Given the description of an element on the screen output the (x, y) to click on. 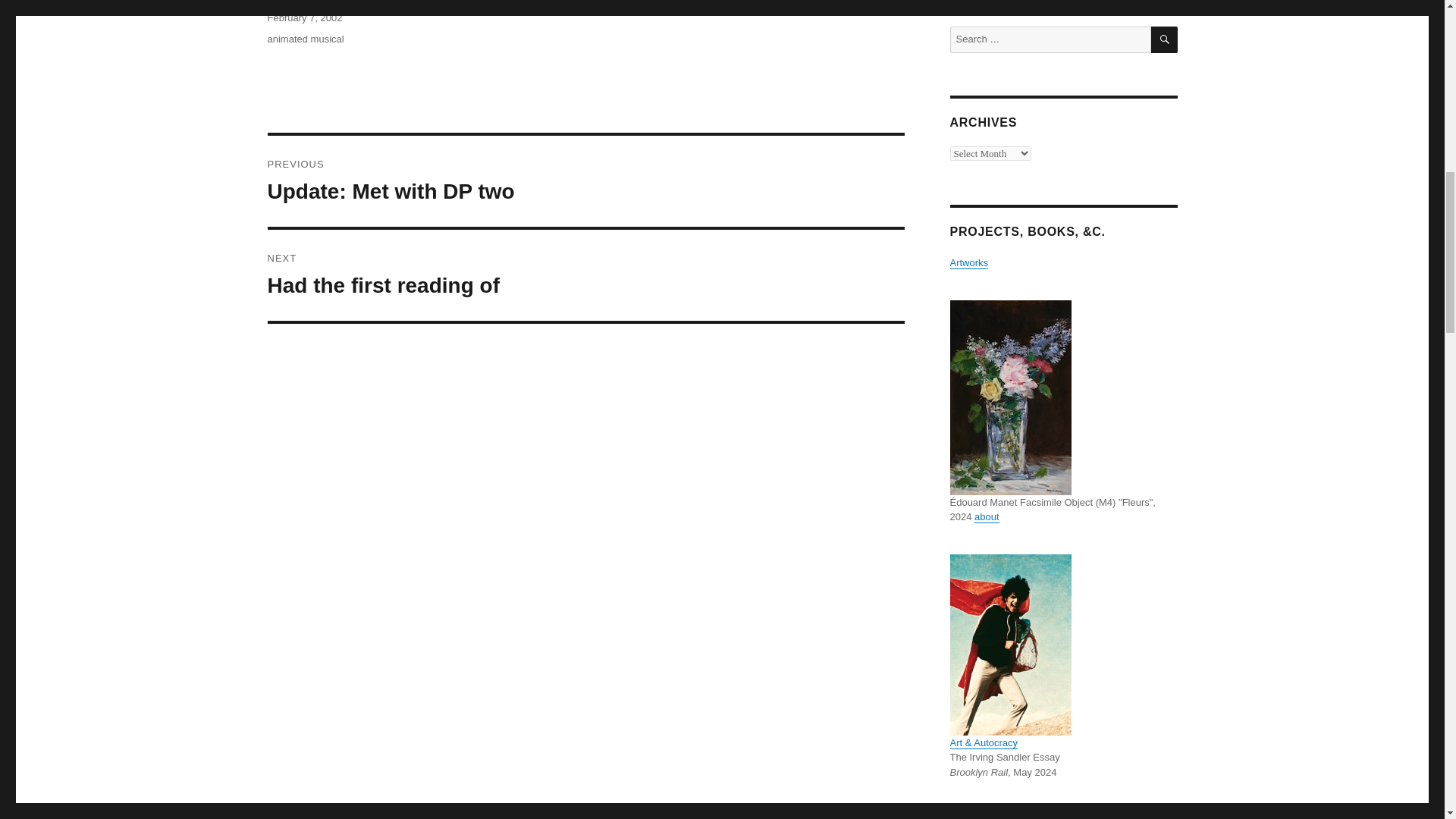
February 7, 2002 (585, 180)
about (304, 17)
SEARCH (585, 275)
Artworks (986, 516)
greg (1164, 39)
animated musical (968, 262)
